Given the description of an element on the screen output the (x, y) to click on. 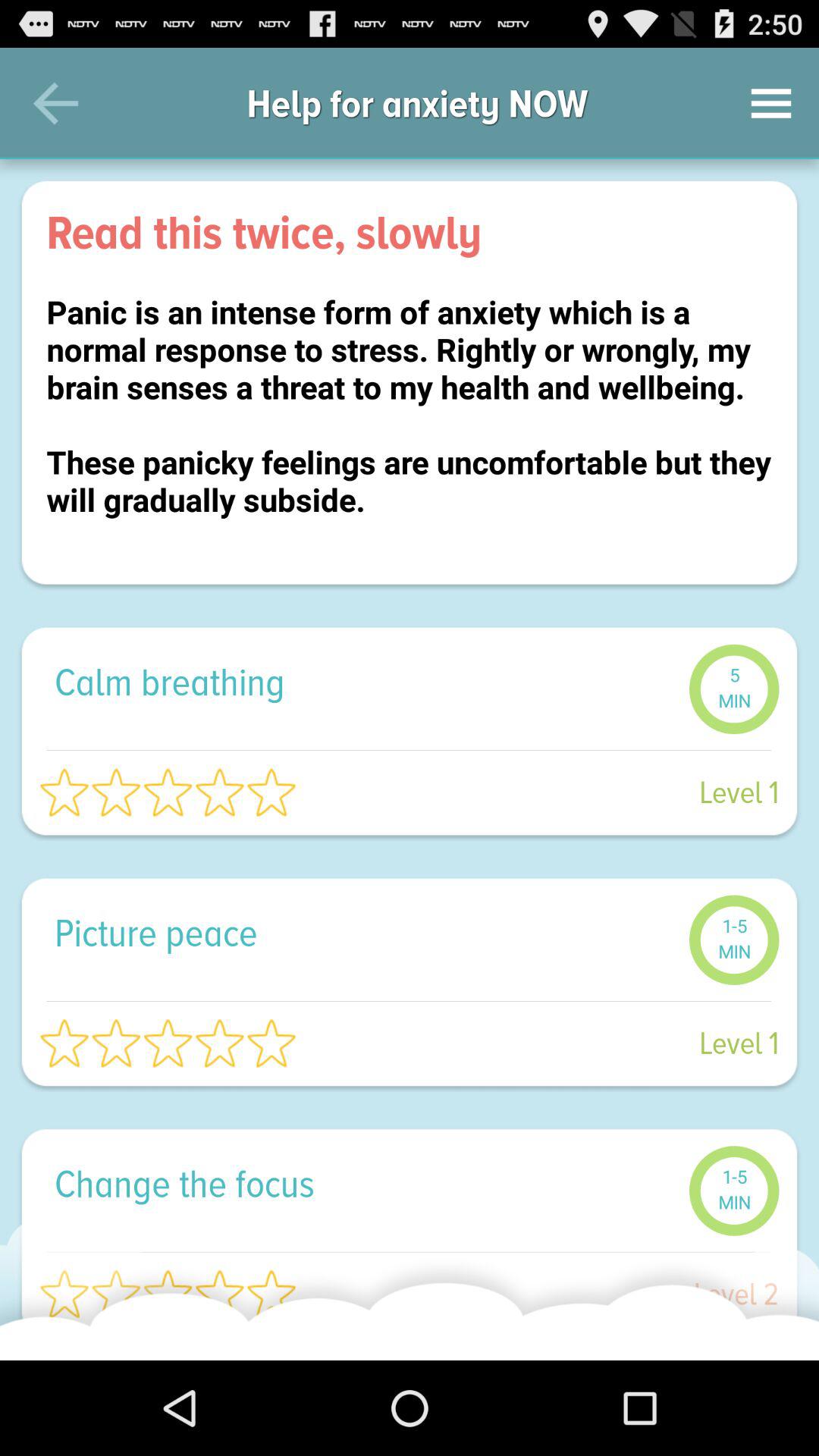
select the icon at the top right corner (771, 103)
